Given the description of an element on the screen output the (x, y) to click on. 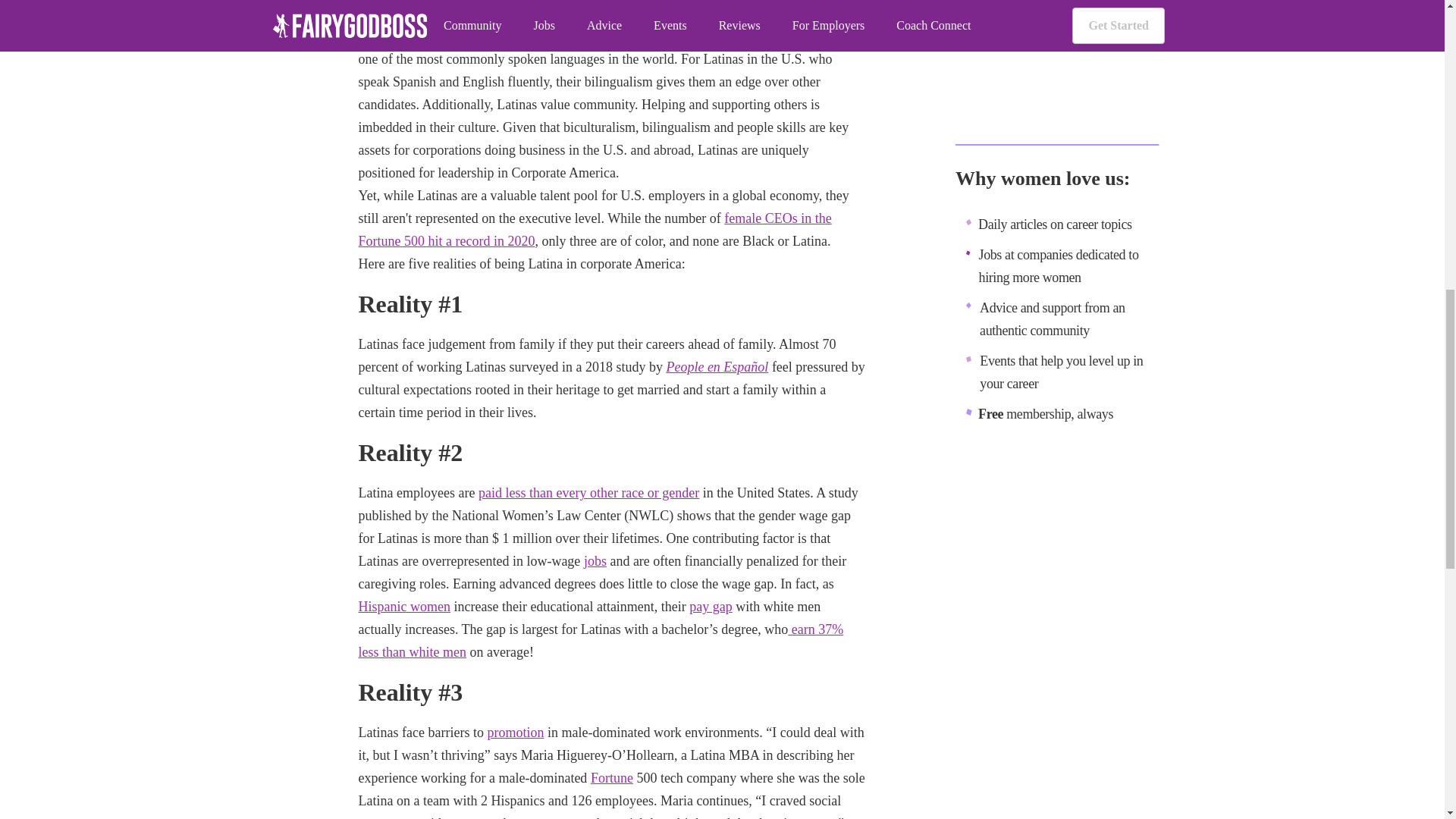
jobs (595, 560)
promotion (514, 732)
paid less than every other race or gender (588, 492)
Hispanic women (403, 606)
pay gap (710, 606)
Fortune (612, 777)
female CEOs in the Fortune 500 hit a record in 2020 (594, 229)
